Given the description of an element on the screen output the (x, y) to click on. 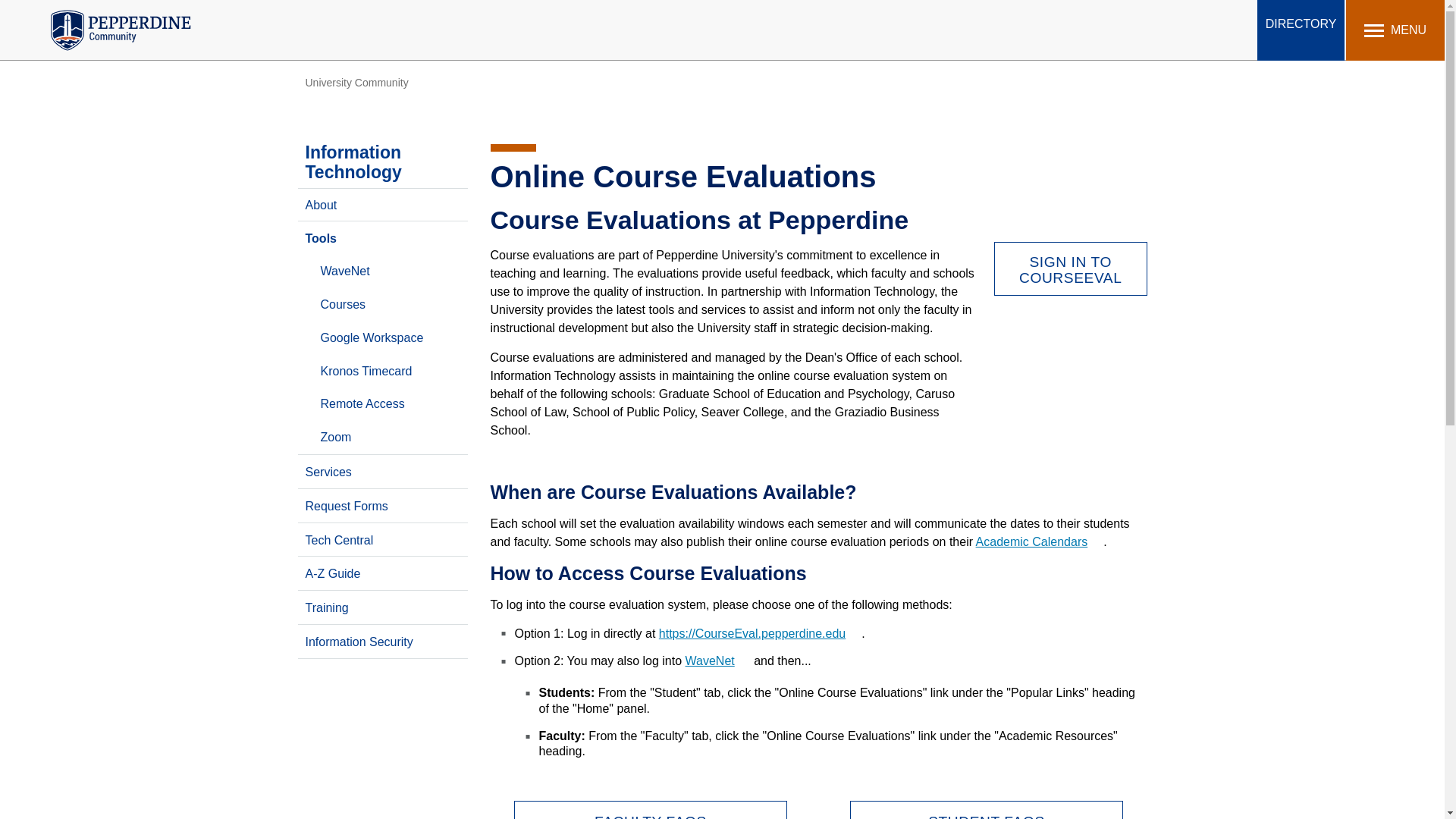
open search (1243, 29)
Submit (502, 19)
DIRECTORY (1300, 30)
